Given the description of an element on the screen output the (x, y) to click on. 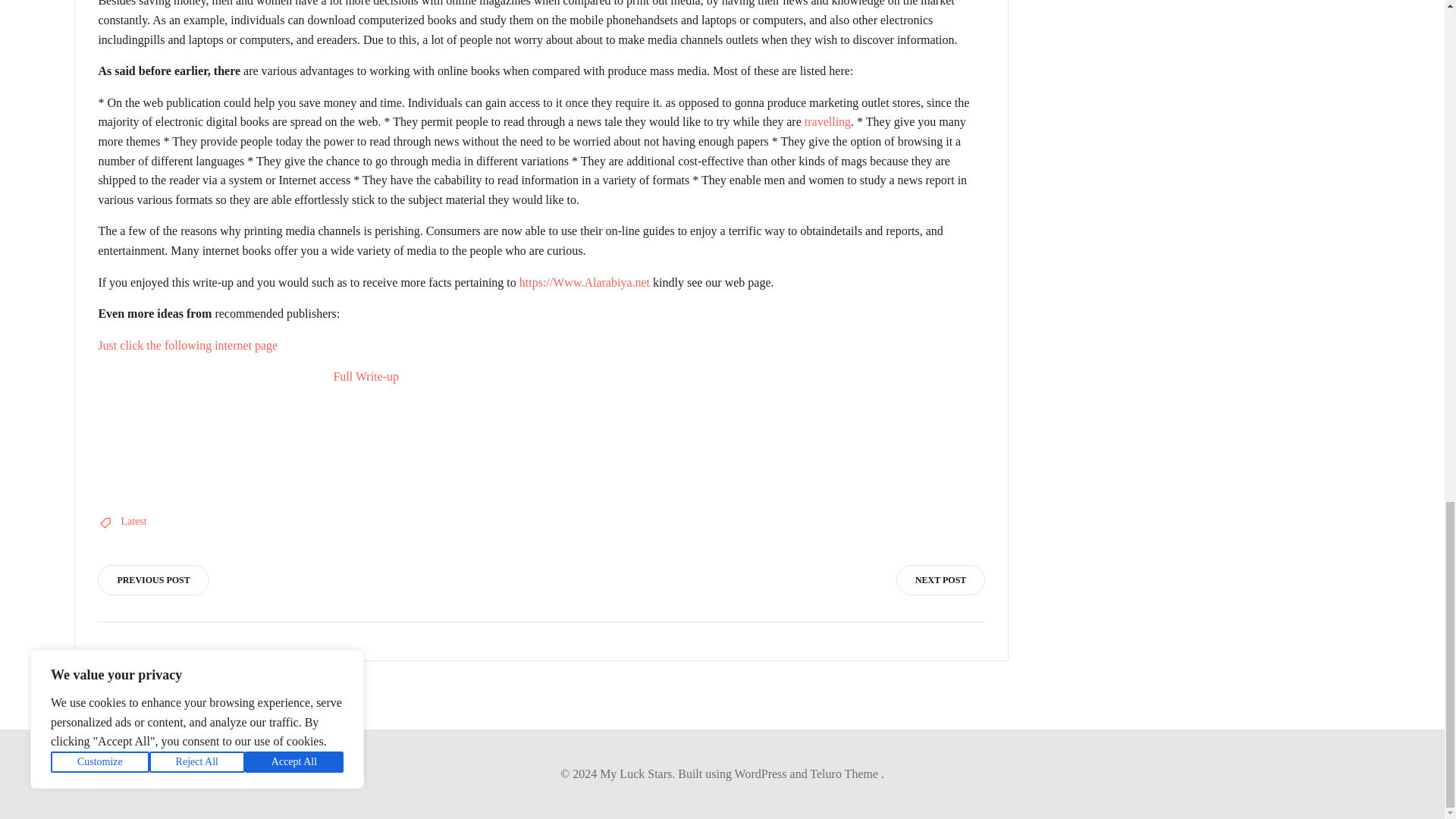
PREVIOUS POST (152, 580)
Just click the following internet page (187, 345)
travelling (827, 121)
Tag: Latest (133, 521)
Latest (133, 521)
NEXT POST (940, 580)
Full Write-up (365, 376)
